Given the description of an element on the screen output the (x, y) to click on. 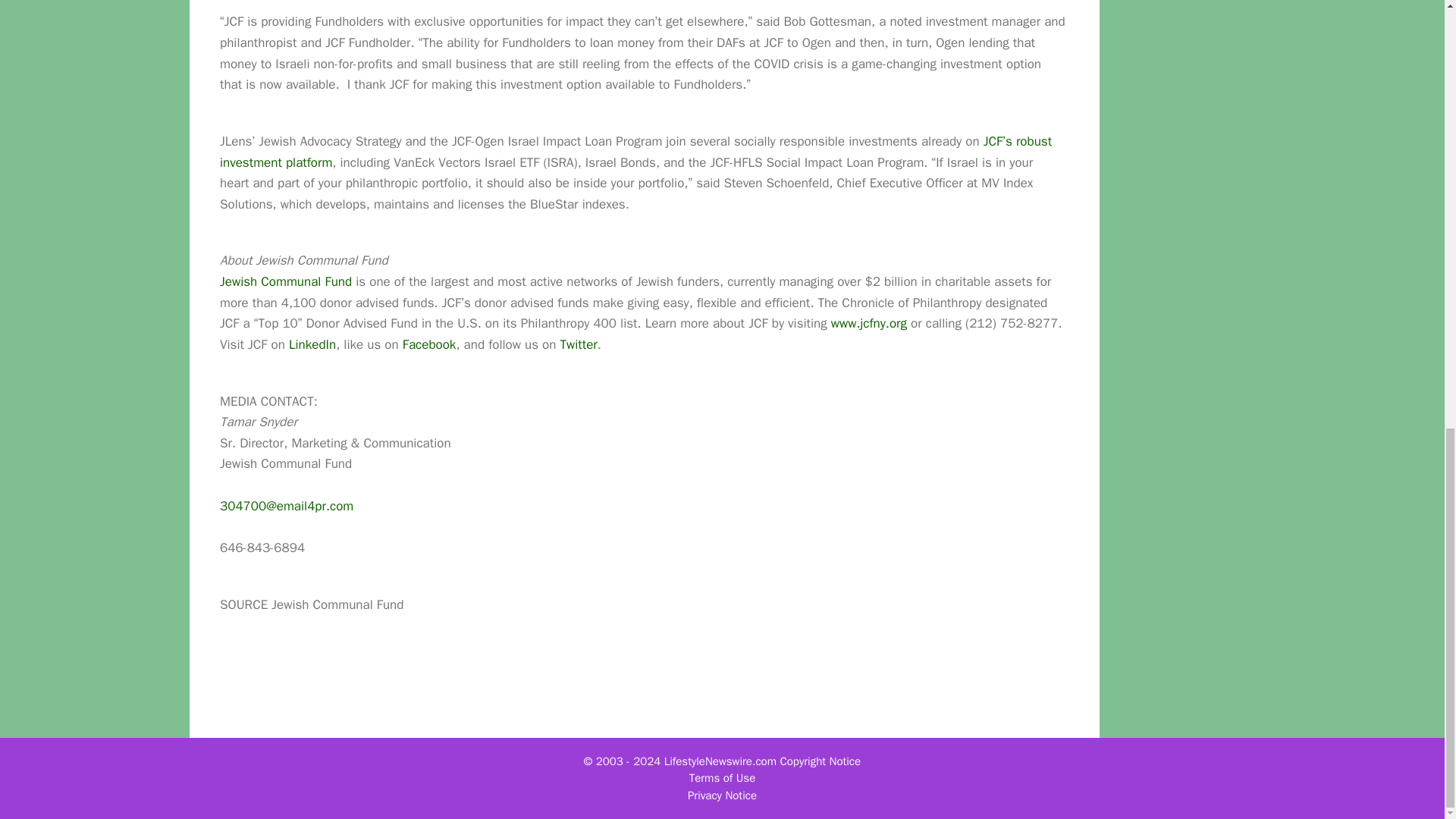
Terms of Use (721, 777)
Twitter (578, 344)
www.jcfny.org (869, 323)
Privacy Notice (722, 795)
LinkedIn (312, 344)
Jewish Communal Fund (285, 281)
Facebook (430, 344)
